Given the description of an element on the screen output the (x, y) to click on. 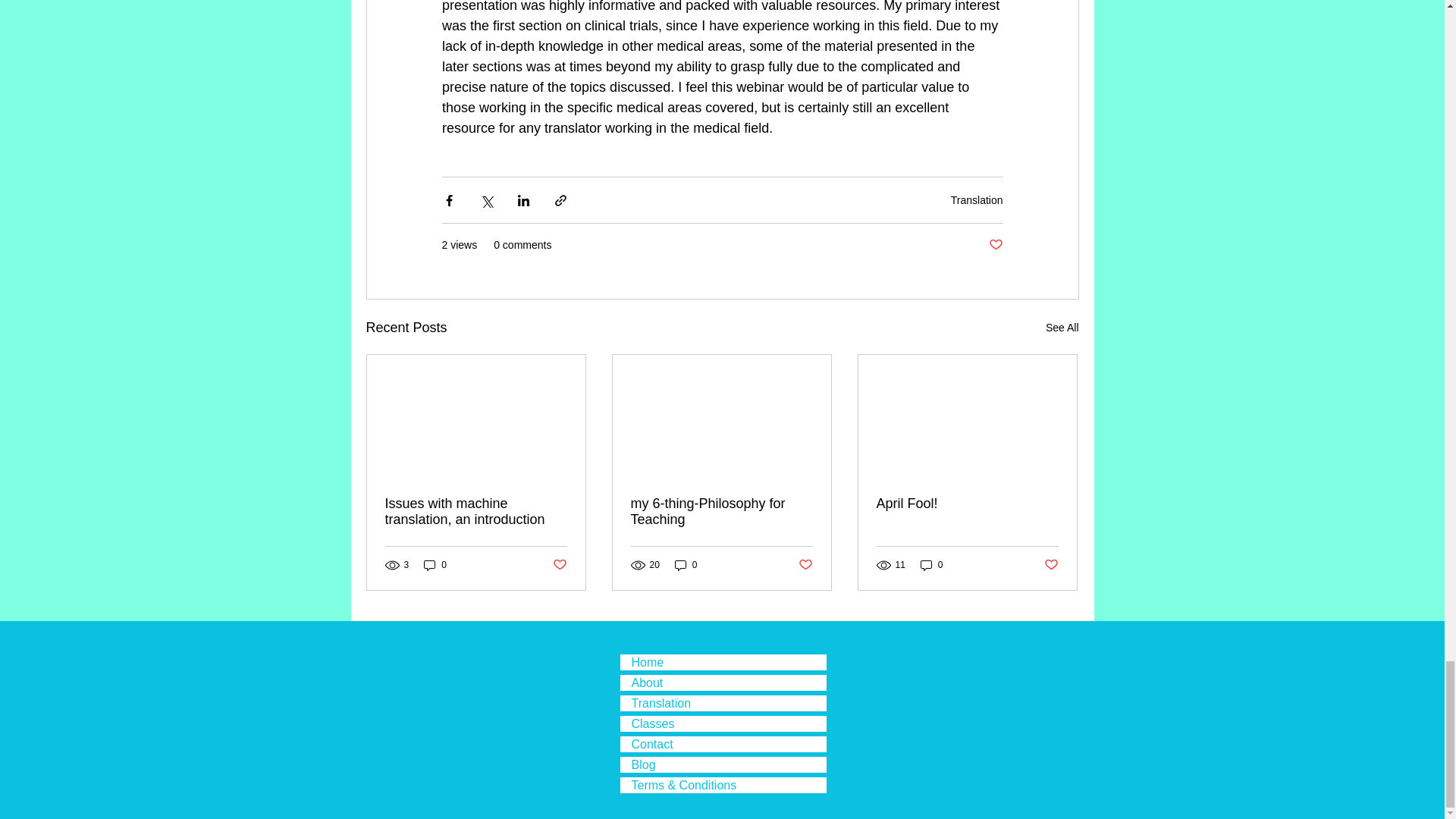
Issues with machine translation, an introduction (476, 511)
0 (685, 564)
Translation (976, 200)
0 (435, 564)
See All (1061, 327)
Post not marked as liked (995, 245)
Post not marked as liked (558, 565)
my 6-thing-Philosophy for Teaching (721, 511)
Post not marked as liked (804, 565)
